Given the description of an element on the screen output the (x, y) to click on. 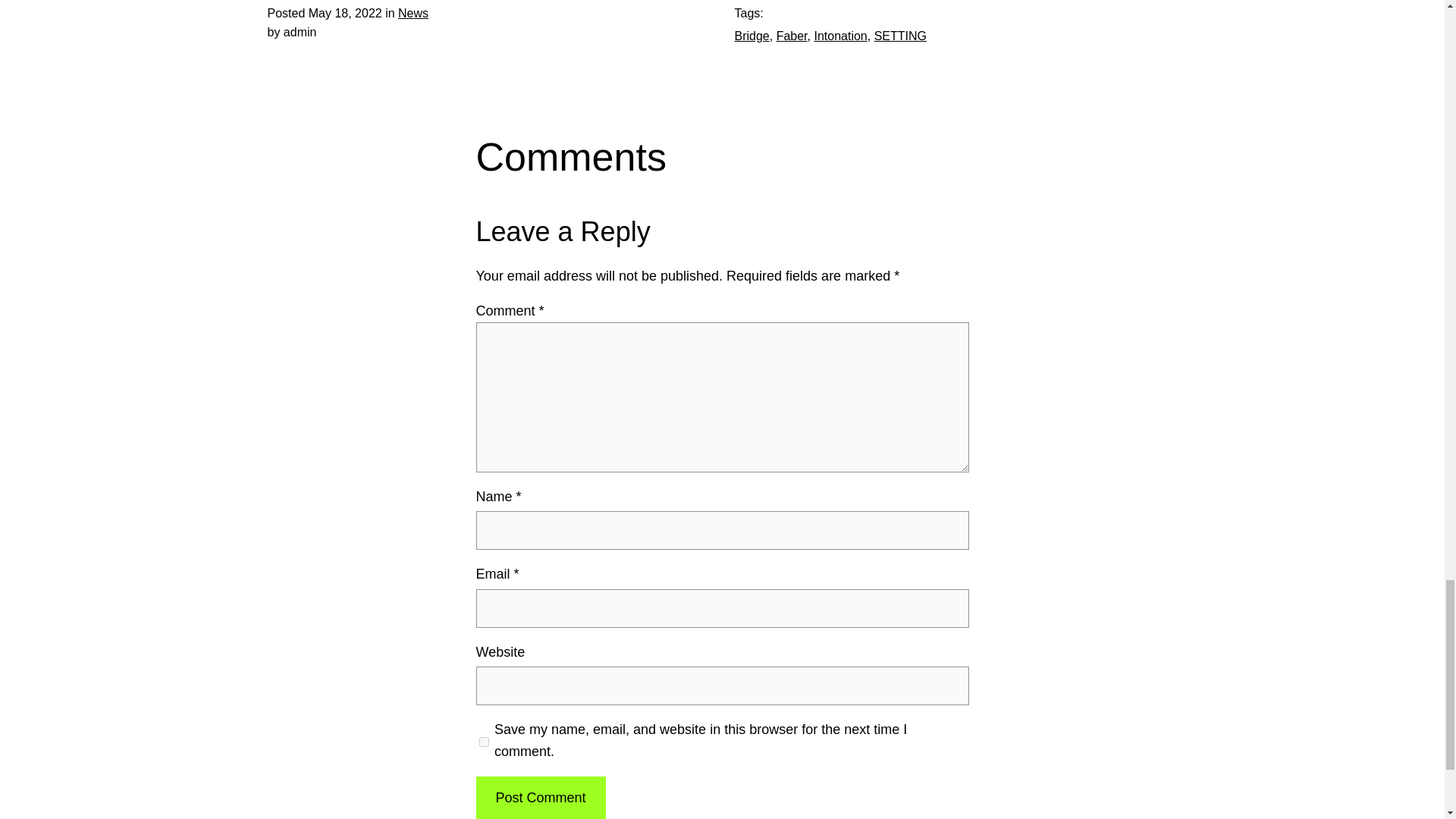
News (412, 12)
Bridge (750, 35)
Faber (792, 35)
Post Comment (540, 797)
Post Comment (540, 797)
SETTING (900, 35)
Intonation (839, 35)
